Given the description of an element on the screen output the (x, y) to click on. 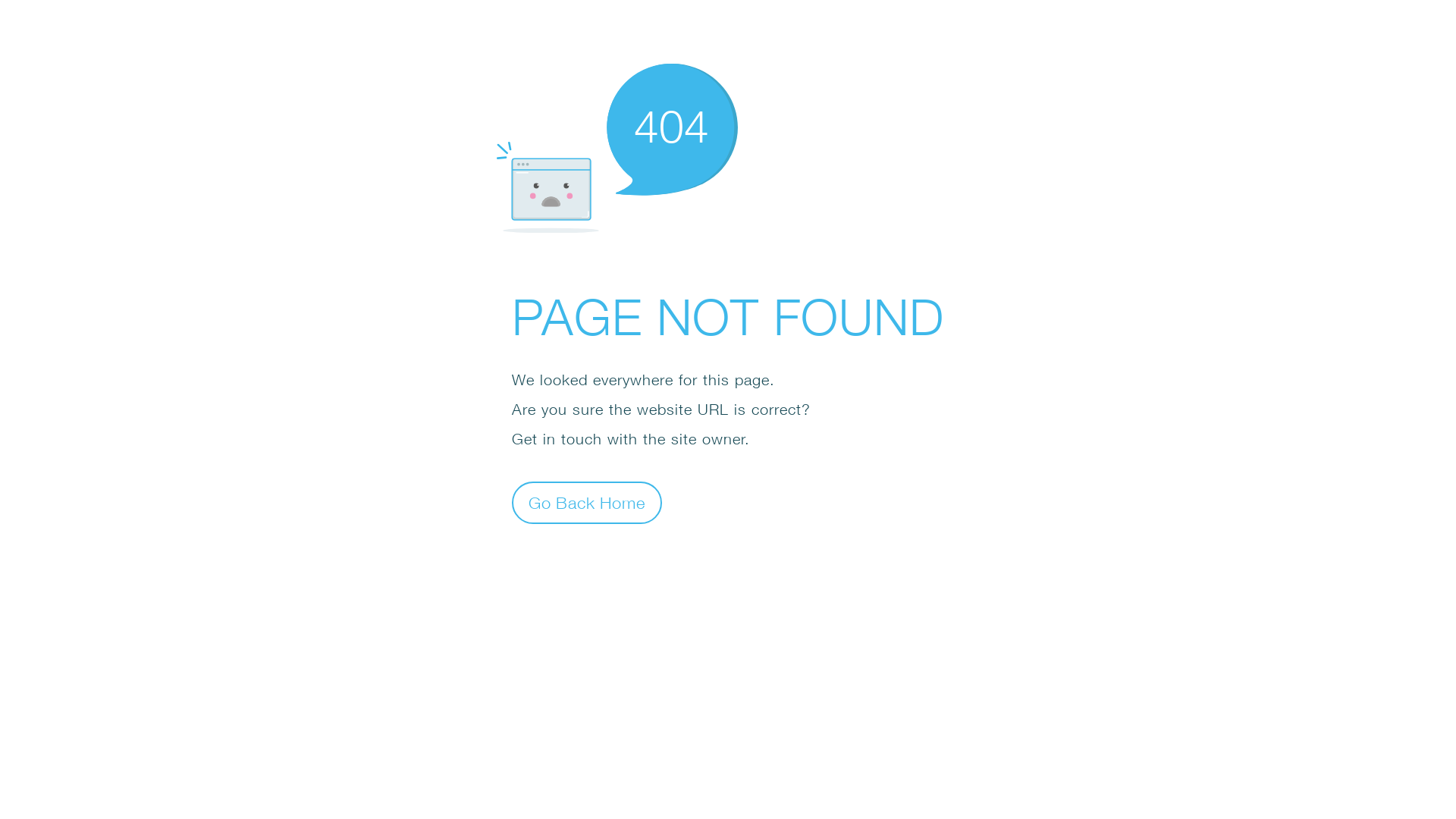
Go Back Home Element type: text (586, 502)
